Given the description of an element on the screen output the (x, y) to click on. 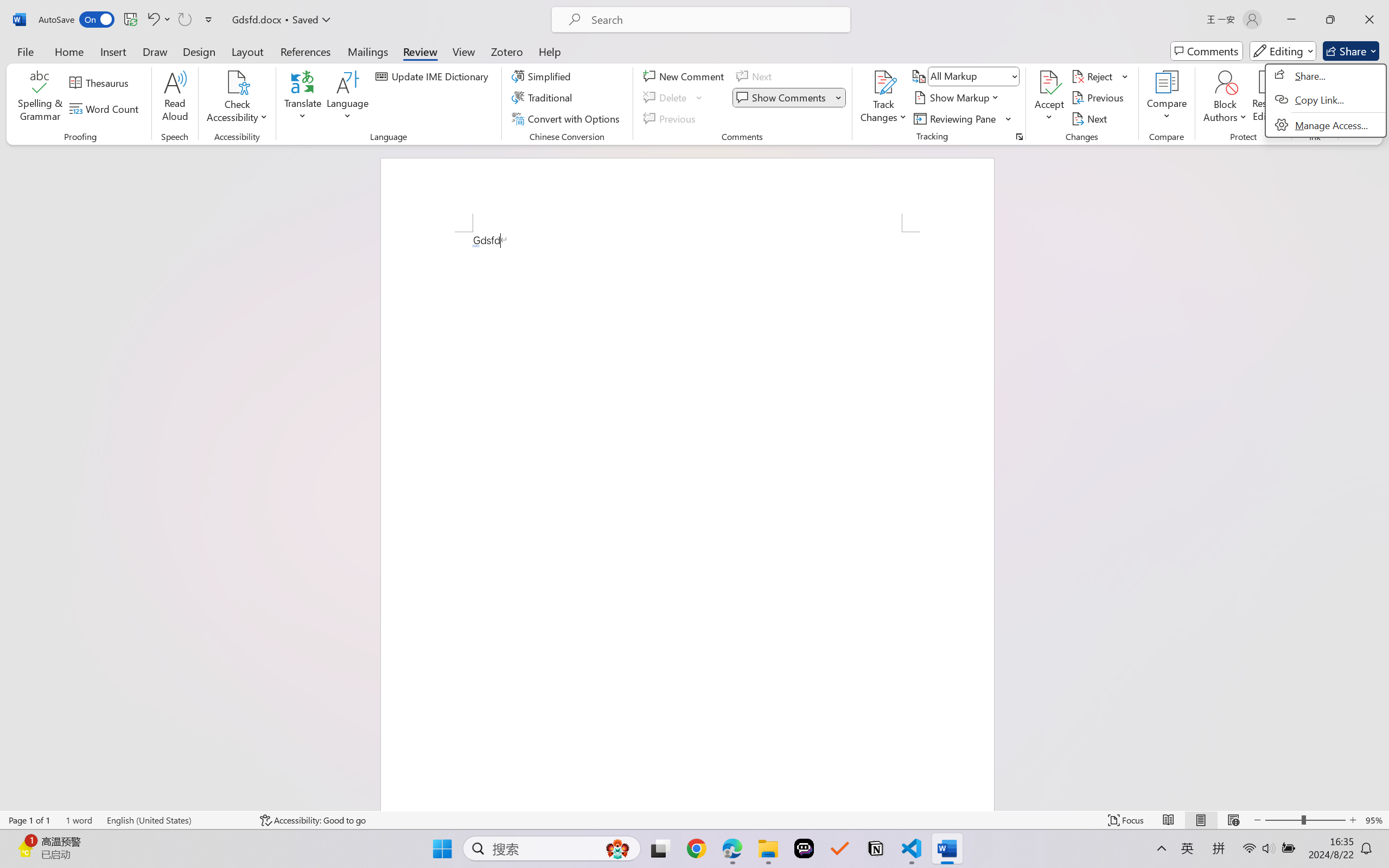
Simplified (542, 75)
Update IME Dictionary... (433, 75)
Can't Repeat (184, 19)
Action: Undo Auto Actions (475, 245)
Spelling & Grammar (39, 97)
Check Accessibility (237, 81)
Word Count (105, 108)
